Given the description of an element on the screen output the (x, y) to click on. 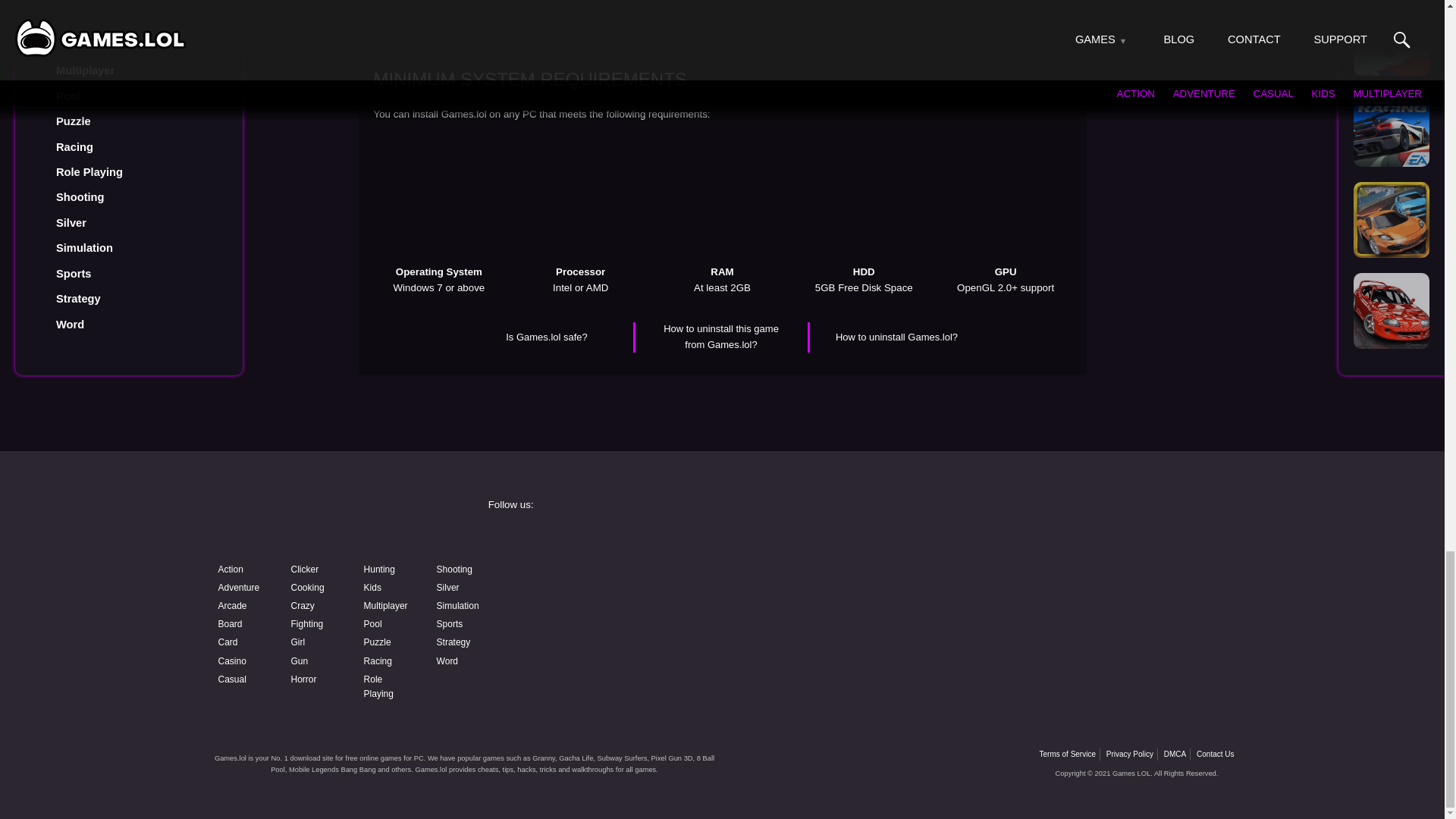
Pinterest (1073, 579)
Facebook (603, 540)
YouTube (603, 579)
Twitter (1073, 540)
Discord (838, 579)
Instagram (838, 540)
Games.lol free game download website logo (319, 519)
